Given the description of an element on the screen output the (x, y) to click on. 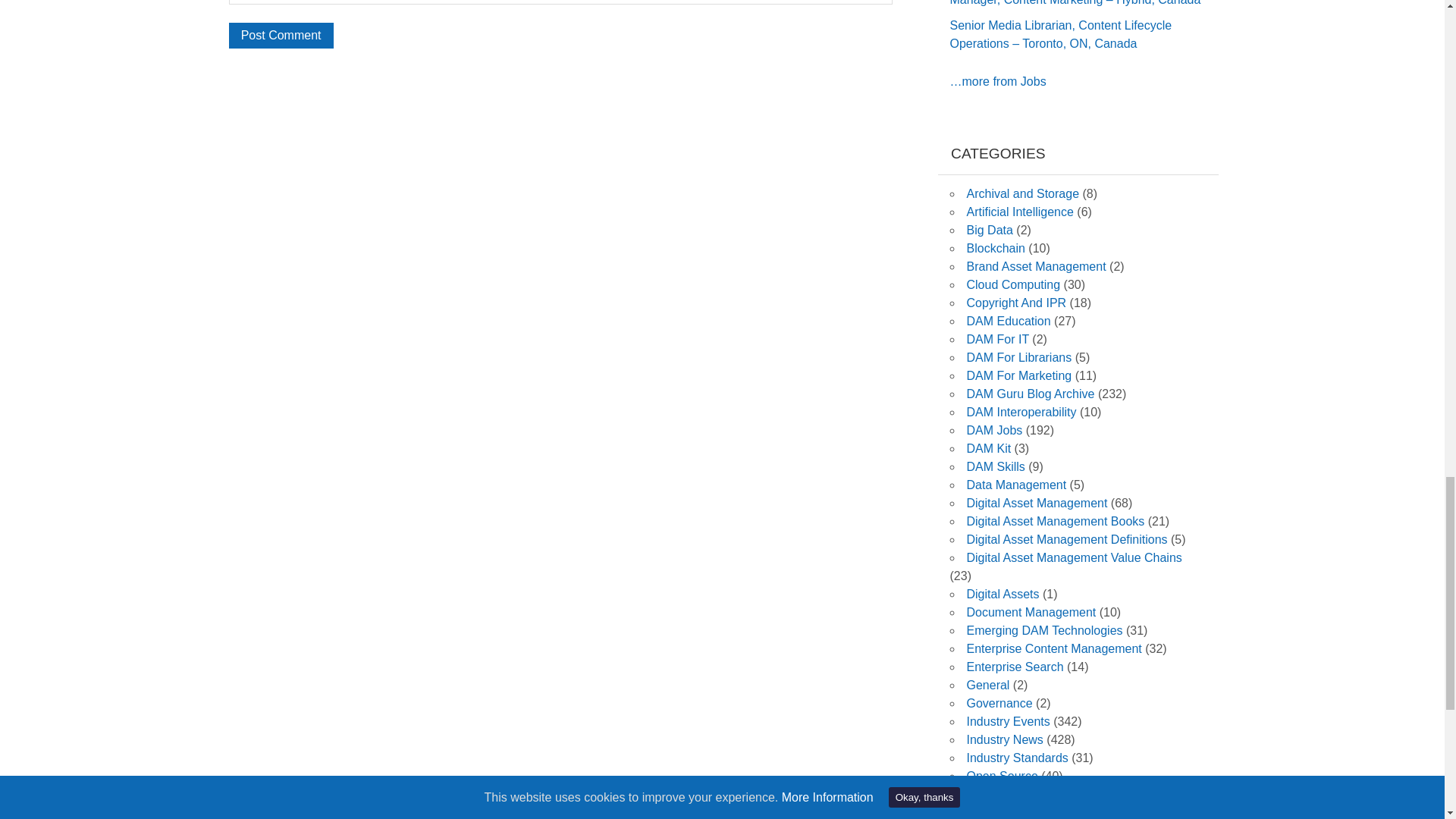
Post Comment (280, 35)
